Given the description of an element on the screen output the (x, y) to click on. 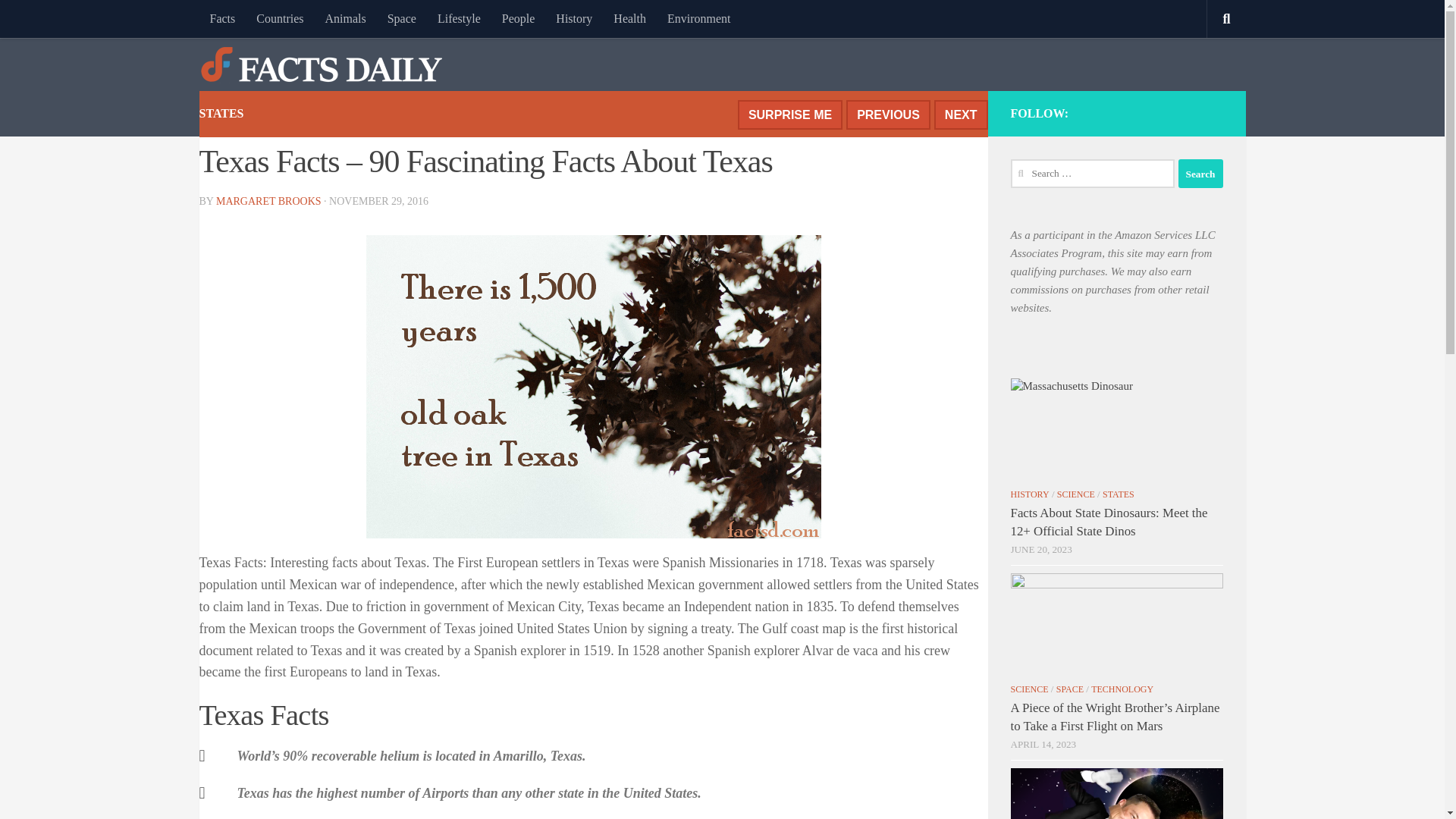
History (573, 18)
HISTORY (1029, 493)
Posts by Margaret Brooks (268, 201)
SPACE (1070, 688)
STATES (1118, 493)
MARGARET BROOKS (268, 201)
People (519, 18)
Space (401, 18)
PREVIOUS (887, 113)
Animals (344, 18)
